Given the description of an element on the screen output the (x, y) to click on. 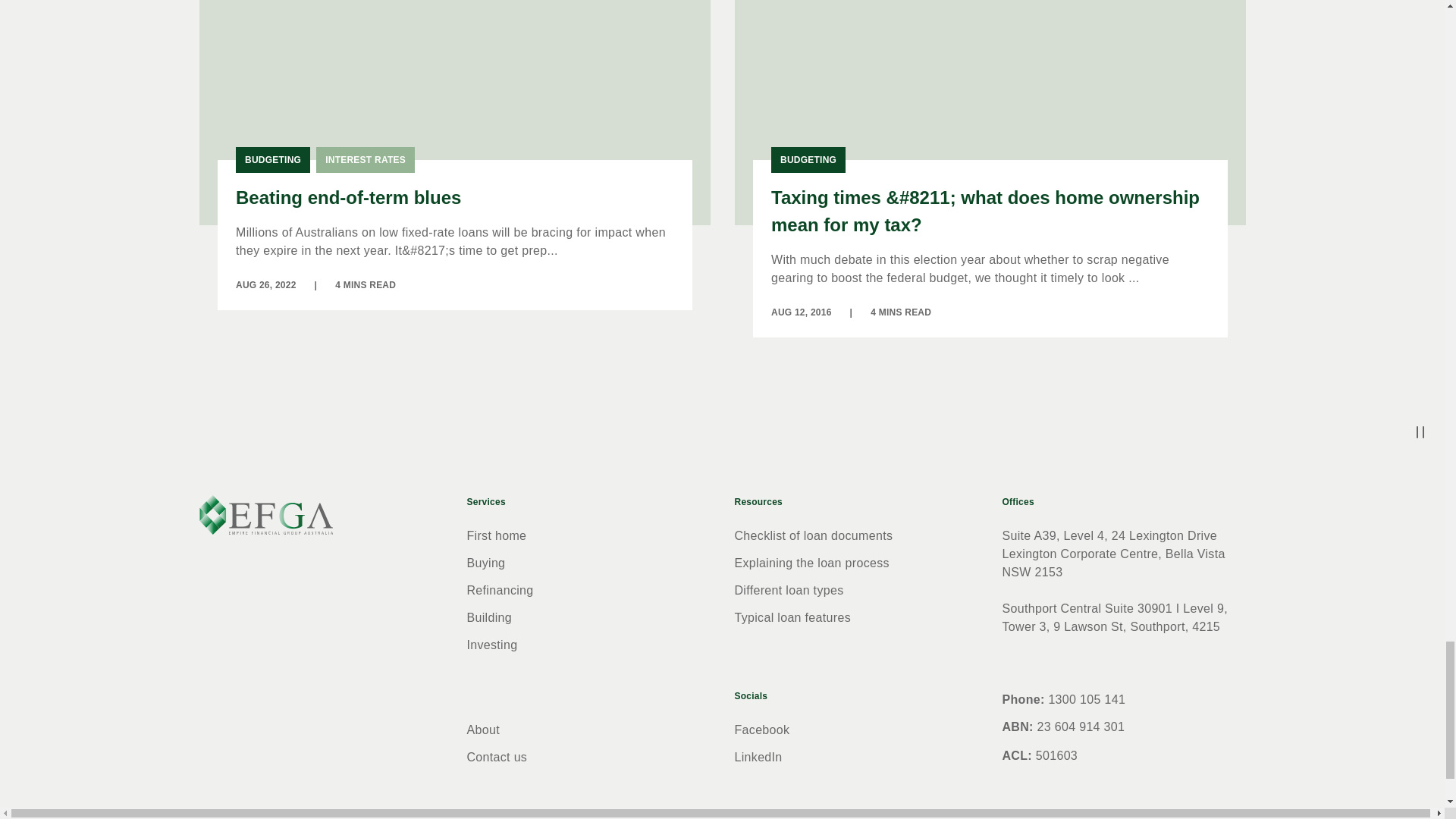
Refinancing (500, 590)
Building (489, 617)
LinkedIn (757, 757)
First home (497, 536)
1300 105 141 (1086, 698)
About (483, 730)
Facebook (761, 730)
Typical loan features (791, 617)
Investing (492, 645)
Buying (486, 563)
EFGA Logo (264, 515)
Contact us (497, 757)
Checklist of loan documents (812, 536)
Different loan types (788, 590)
Explaining the loan process (810, 563)
